Given the description of an element on the screen output the (x, y) to click on. 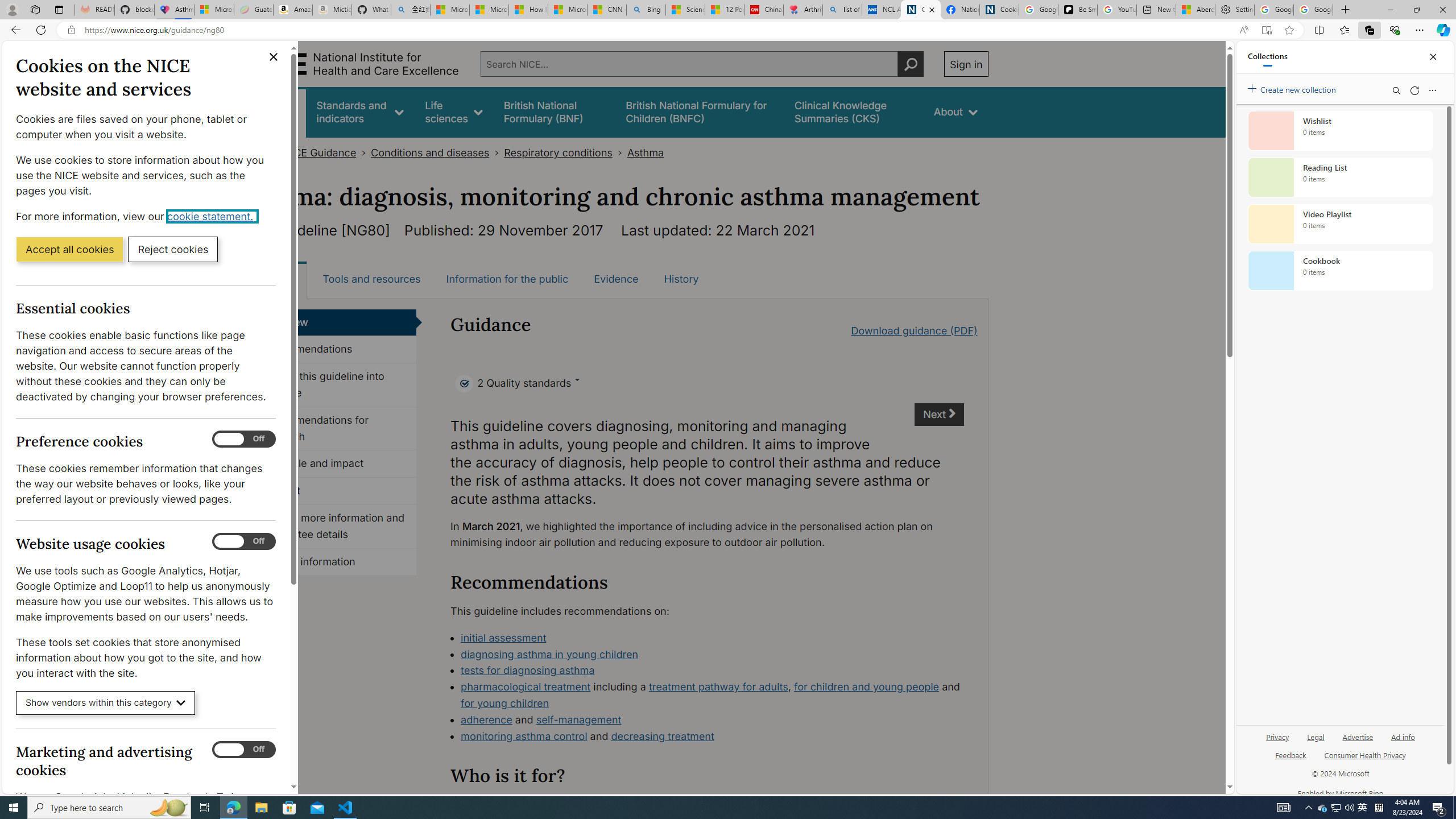
Recommendations (333, 349)
adherence (486, 719)
Putting this guideline into practice (333, 385)
Update information (333, 561)
